Given the description of an element on the screen output the (x, y) to click on. 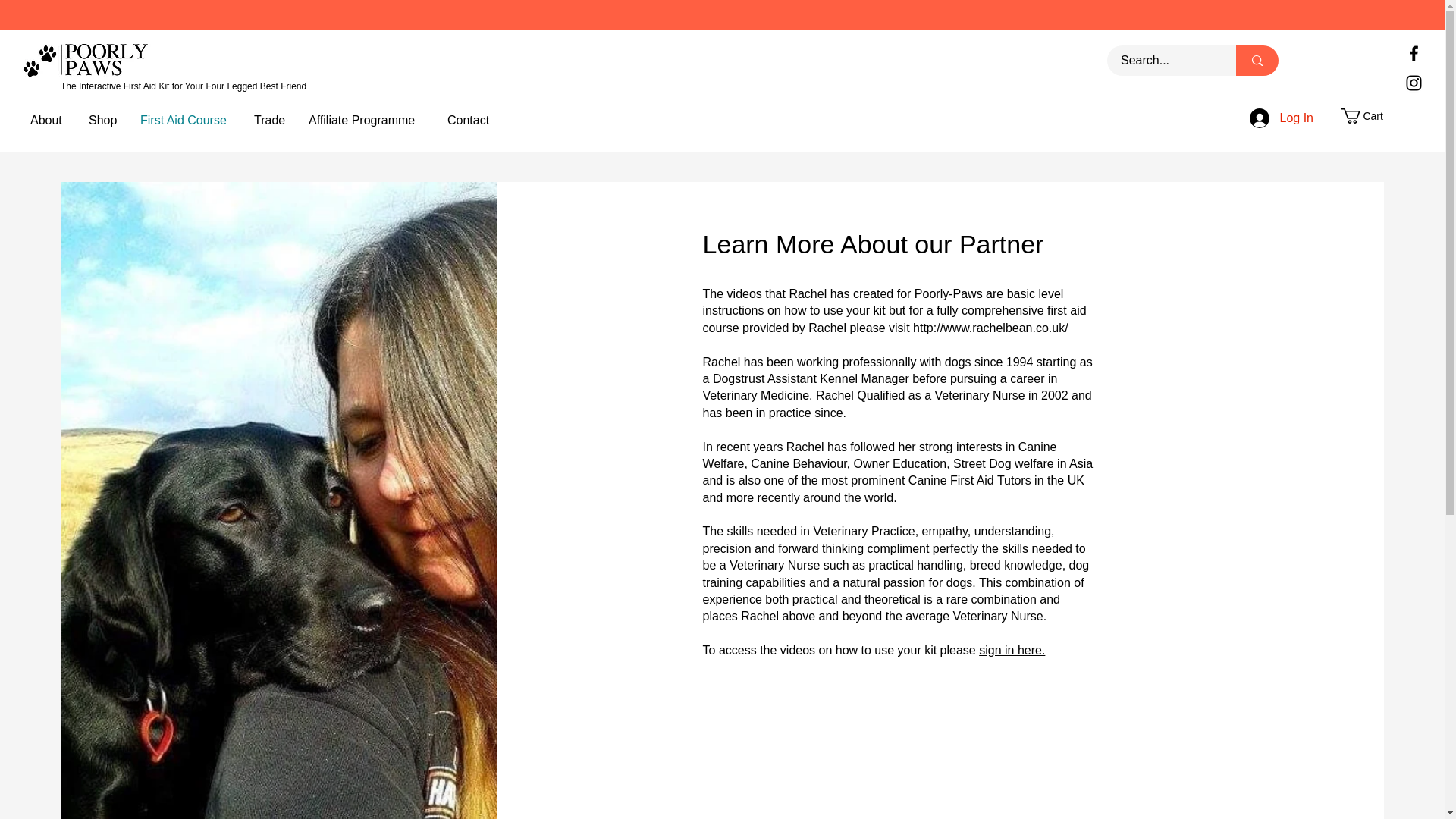
Cart (1368, 115)
sign in here. (1011, 649)
Cart (1368, 115)
Trade (270, 120)
First Aid Course (186, 120)
About (47, 120)
Affiliate Programme (366, 120)
Contact (469, 120)
Log In (1281, 118)
Shop (103, 120)
